Given the description of an element on the screen output the (x, y) to click on. 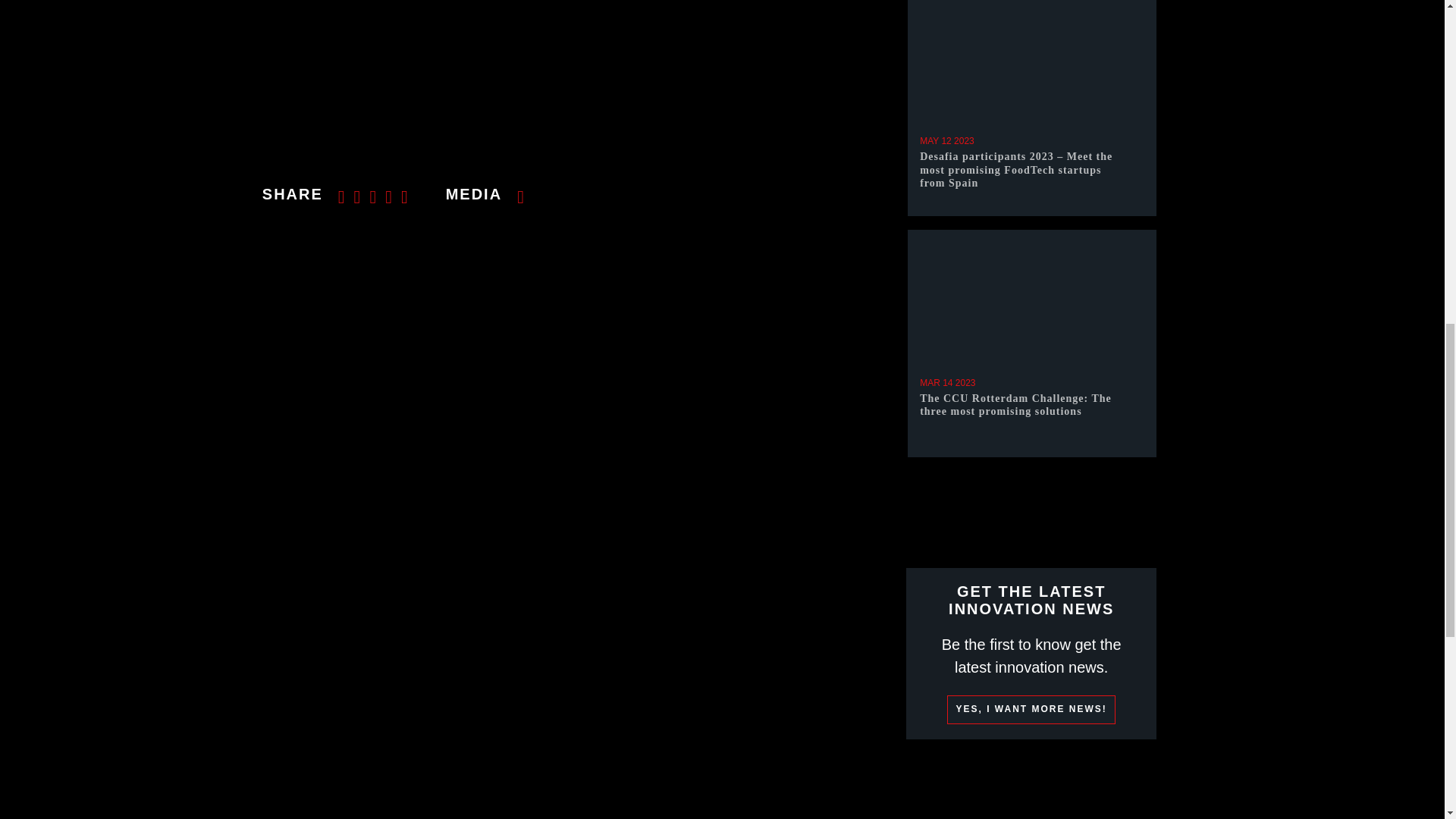
YES, I WANT MORE NEWS! (1031, 709)
